Given the description of an element on the screen output the (x, y) to click on. 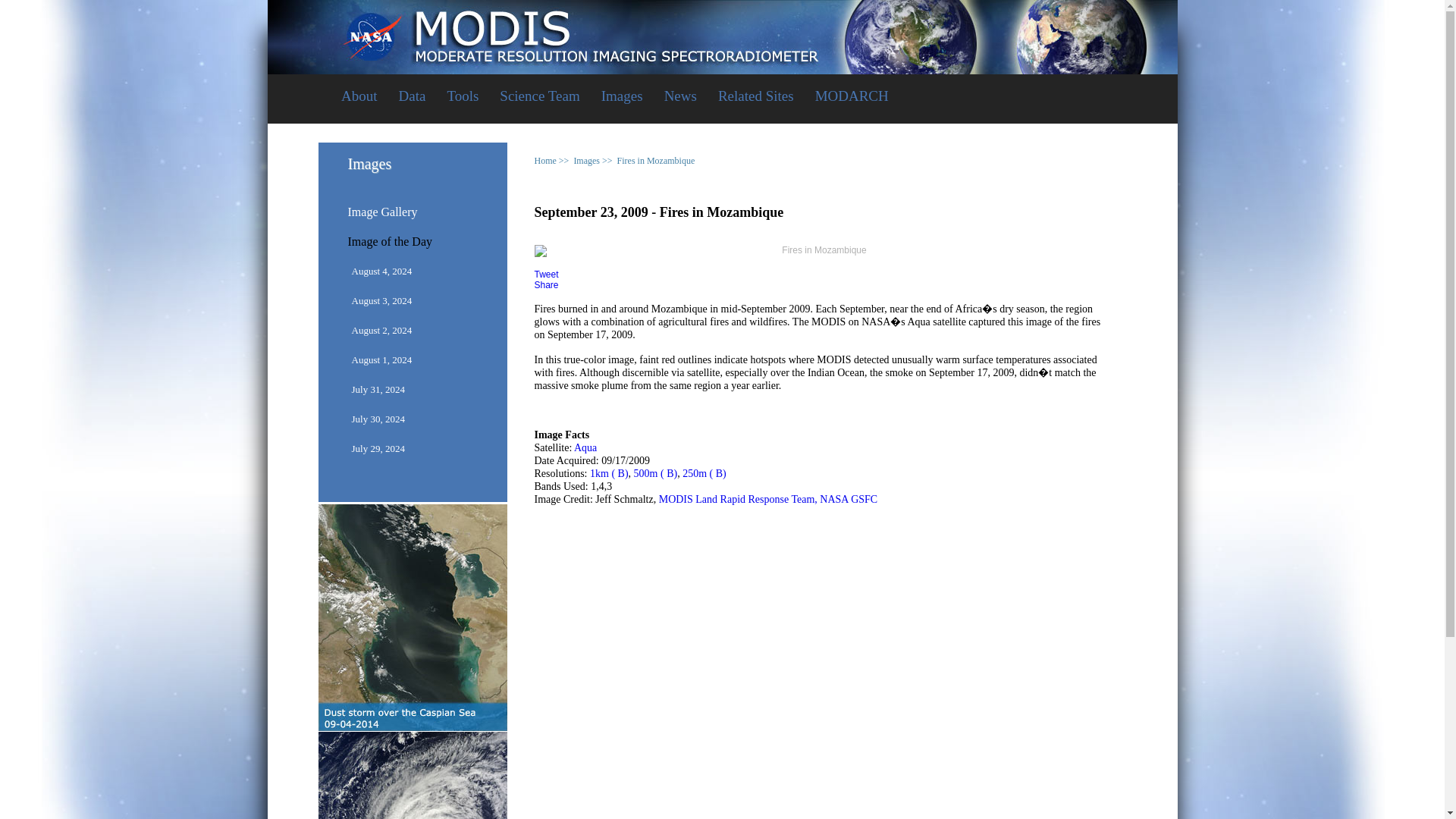
Link To NASA website (722, 28)
About (358, 96)
Data (412, 96)
